Given the description of an element on the screen output the (x, y) to click on. 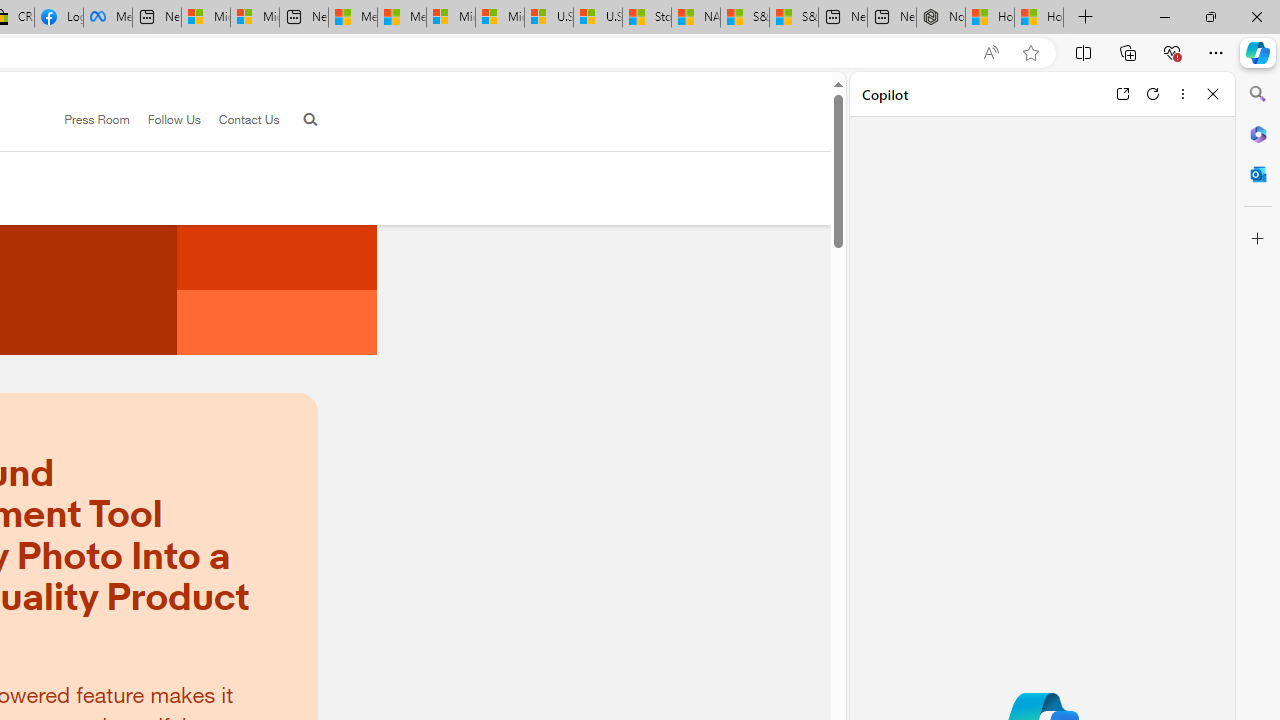
Meta Store (107, 17)
How to Use a Monitor With Your Closed Laptop (1039, 17)
Press Room (97, 119)
Customize (1258, 239)
More options (1182, 93)
